Given the description of an element on the screen output the (x, y) to click on. 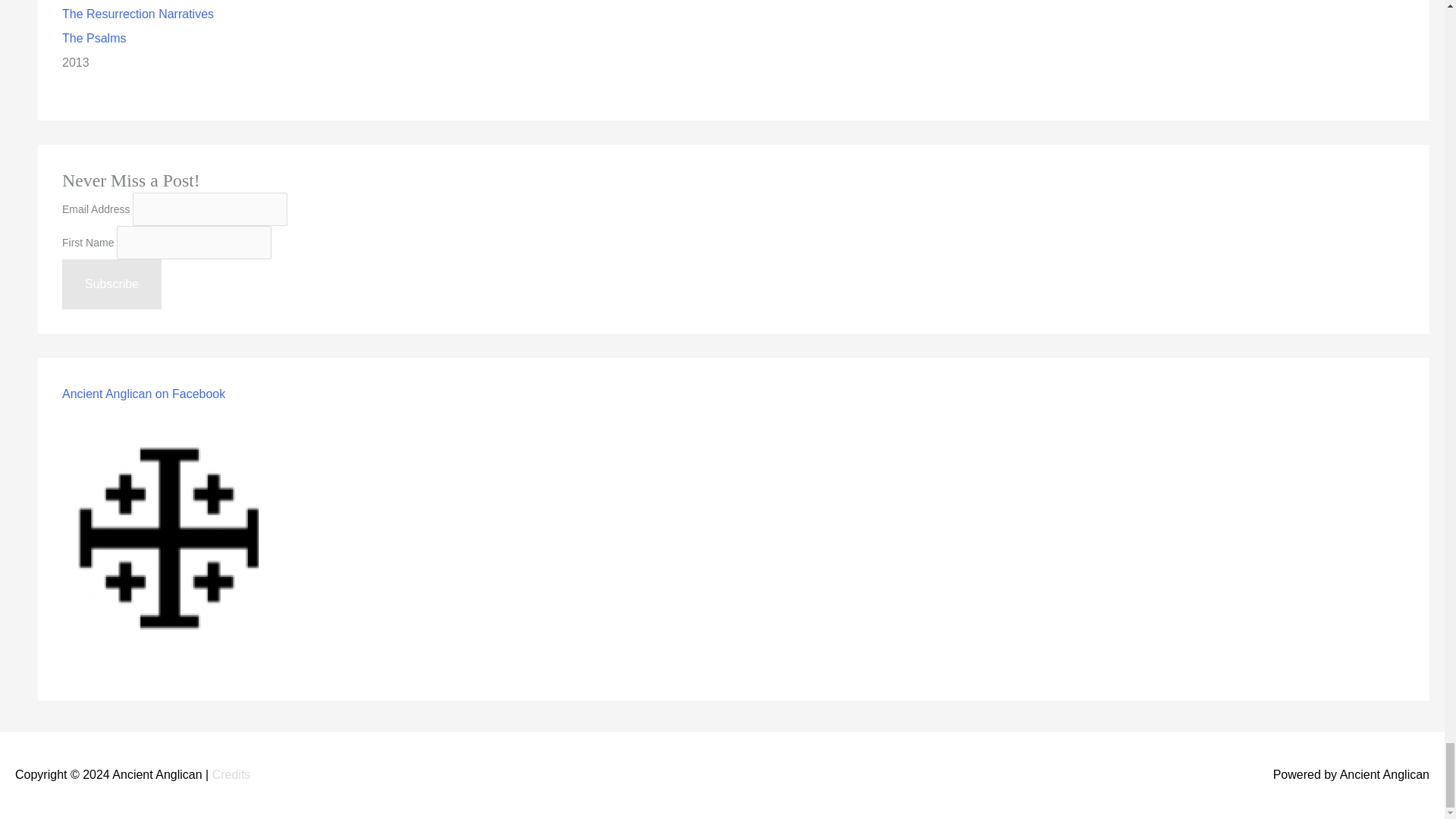
Subscribe (111, 284)
